Given the description of an element on the screen output the (x, y) to click on. 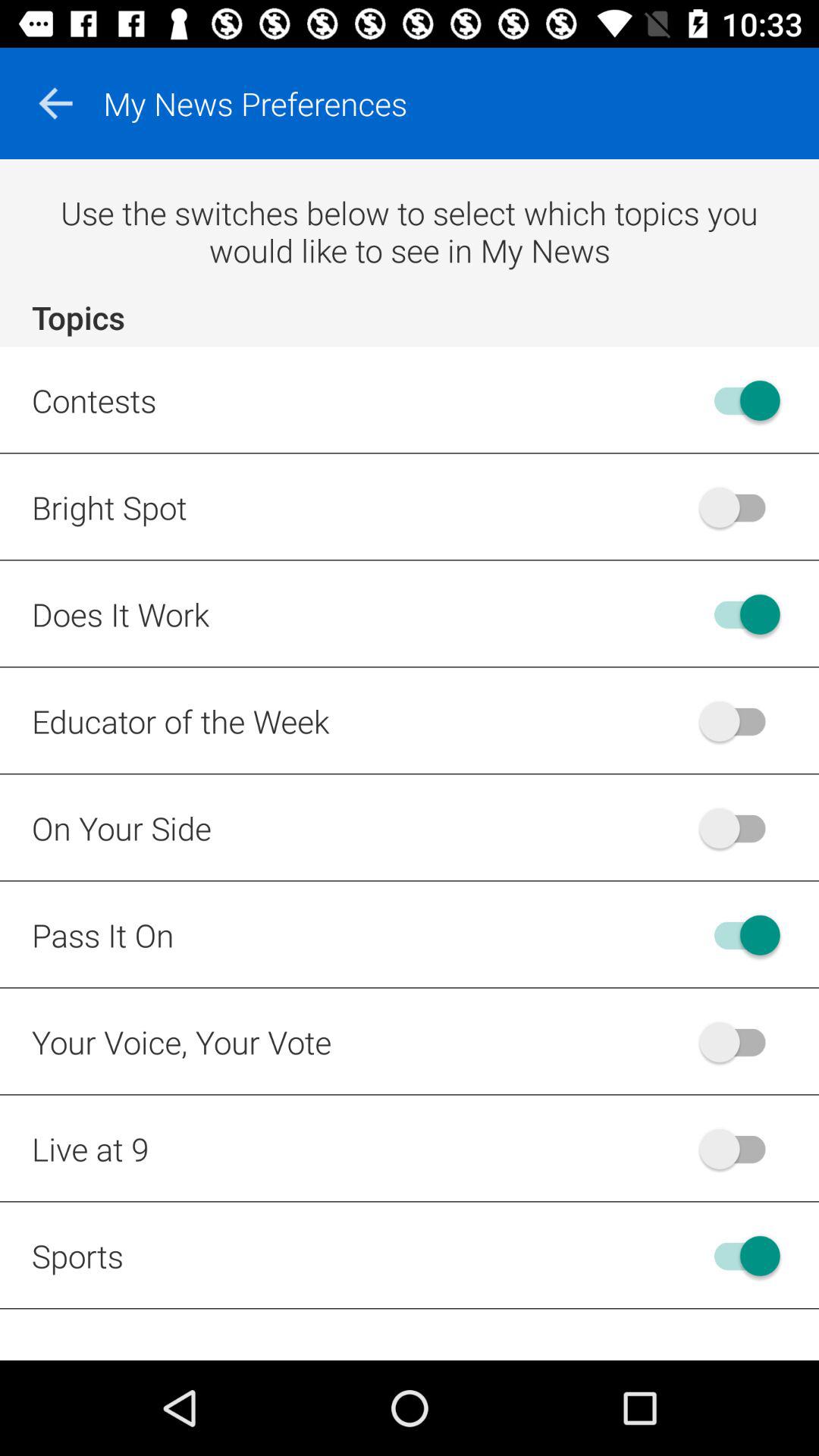
toggle the does it work topic (739, 613)
